Given the description of an element on the screen output the (x, y) to click on. 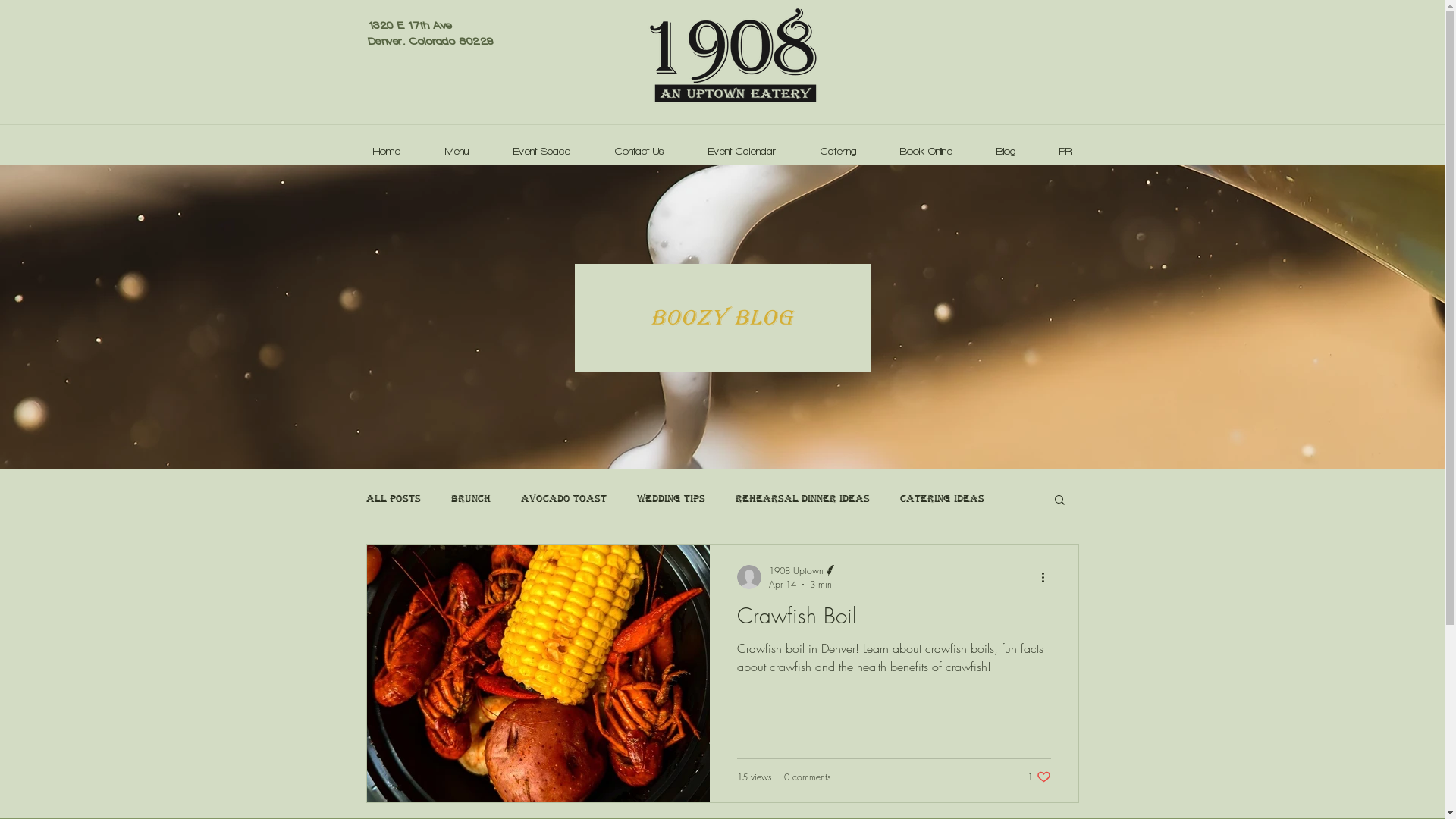
Catering Element type: text (837, 144)
avocado toast Element type: text (562, 498)
0 comments Element type: text (807, 776)
Wedding Tips Element type: text (671, 498)
Book Online Element type: text (926, 144)
Rehearsal Dinner Ideas Element type: text (802, 498)
brunch Element type: text (469, 498)
All Posts Element type: text (392, 498)
Home Element type: text (386, 144)
Catering Ideas Element type: text (941, 498)
1 like. Post not marked as liked
1 Element type: text (1038, 776)
Contact Us Element type: text (639, 144)
1908 Uptown Element type: text (802, 570)
Blog Element type: text (1004, 144)
Event Calendar Element type: text (741, 144)
Crawfish Boil Element type: text (894, 619)
Event Space Element type: text (542, 144)
Menu Element type: text (457, 144)
PR Element type: text (1065, 144)
